Given the description of an element on the screen output the (x, y) to click on. 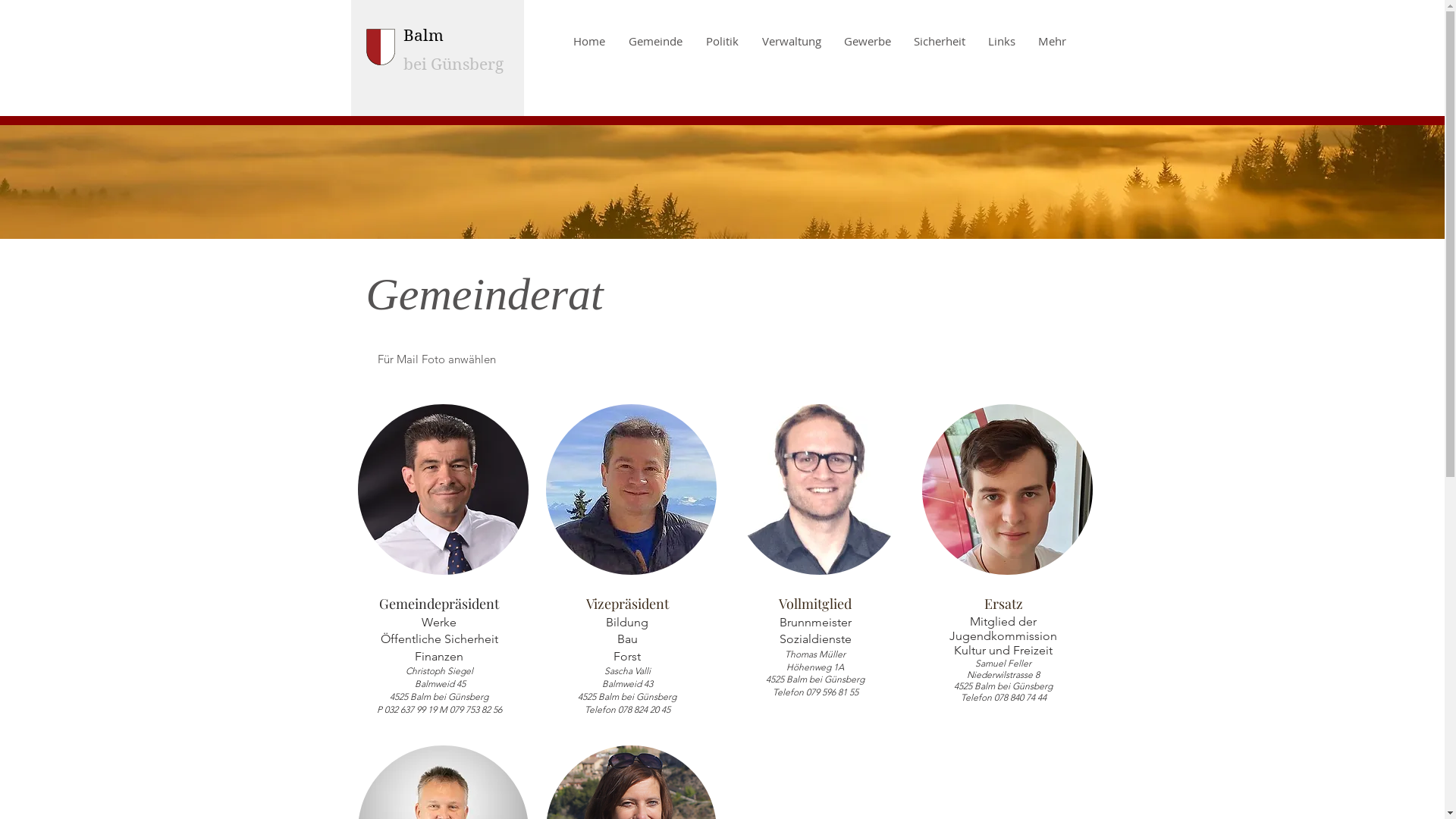
wappe_klein.png Element type: hover (379, 46)
Balm Element type: text (423, 35)
Gewerbe Element type: text (867, 40)
Home Element type: text (588, 40)
Links Element type: text (1001, 40)
Sicherheit Element type: text (939, 40)
